Given the description of an element on the screen output the (x, y) to click on. 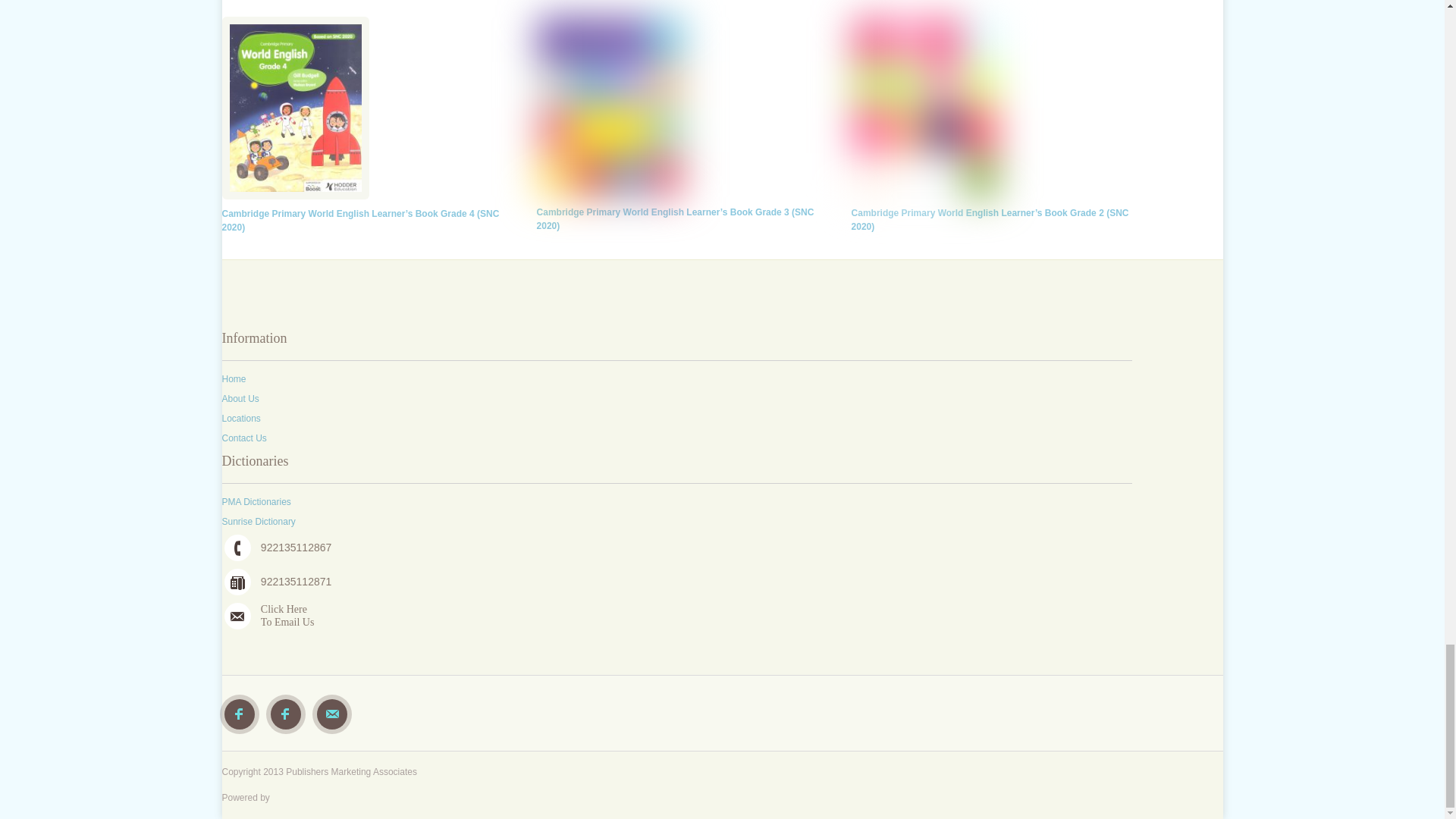
Fax (237, 581)
Email us (237, 615)
PMA (239, 714)
Sunrise (285, 714)
Phone (237, 547)
